Given the description of an element on the screen output the (x, y) to click on. 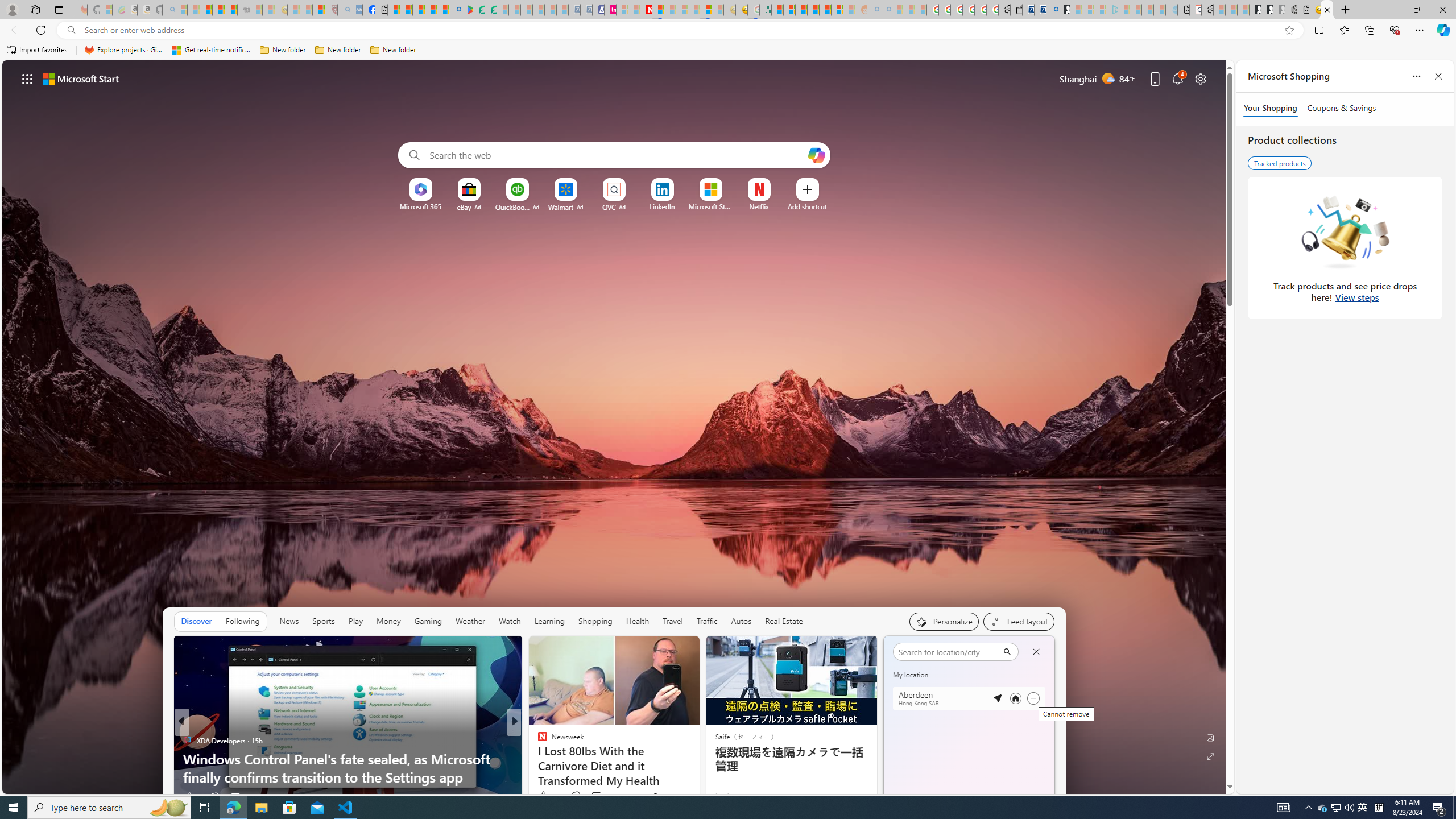
Edit Background (1210, 737)
Microsoft Word - consumer-privacy address update 2.2021 (491, 9)
587 Like (545, 796)
Shanghai (909, 649)
Import favorites (36, 49)
View comments 73 Comment (601, 795)
